Given the description of an element on the screen output the (x, y) to click on. 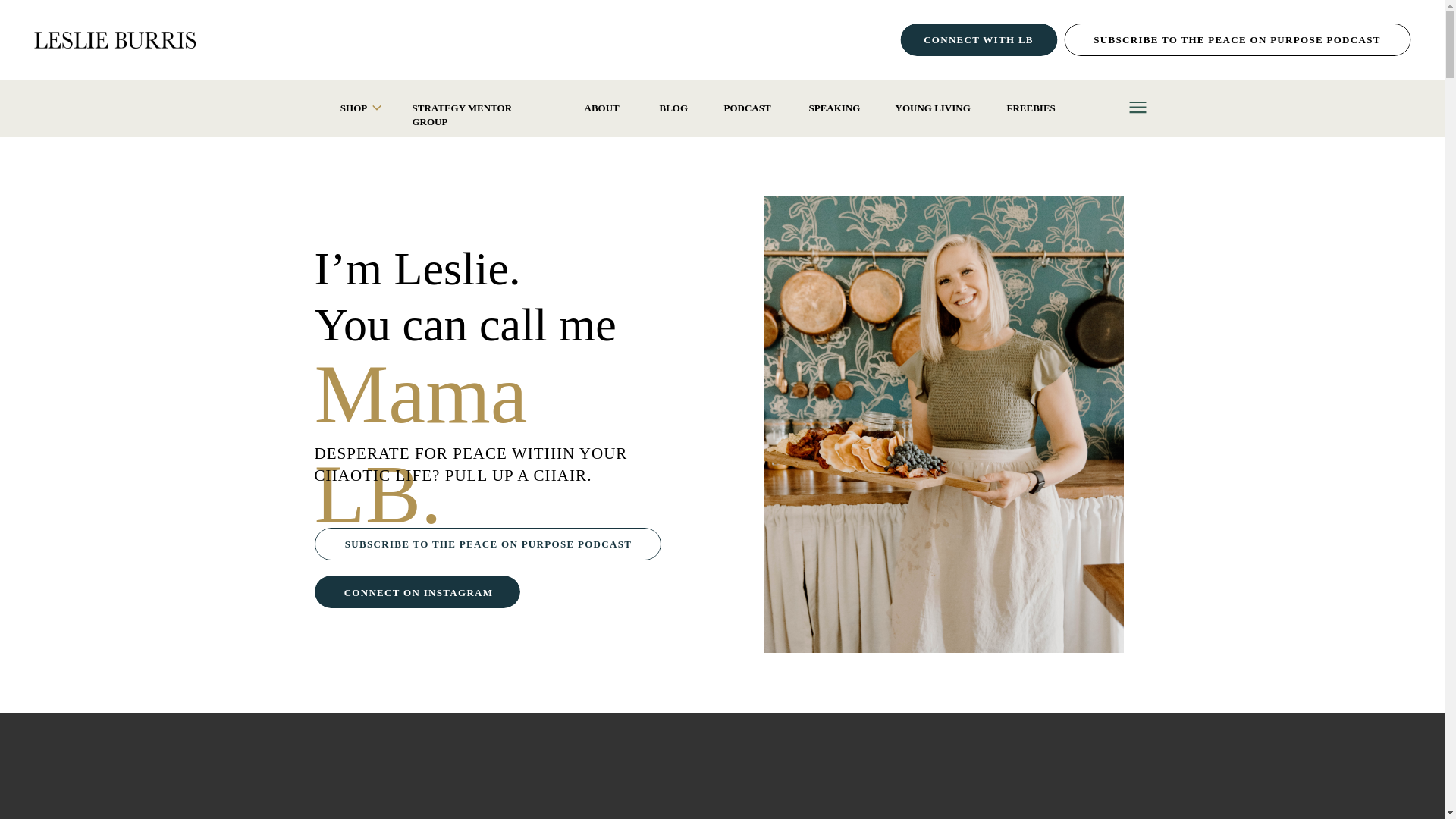
SPEAKING (833, 108)
SHOP (352, 108)
BLOG (673, 108)
CONNECT WITH LB (978, 39)
YOUNG LIVING (933, 108)
FREEBIES (1032, 108)
PODCAST (748, 108)
ABOUT (603, 108)
SUBSCRIBE TO THE PEACE ON PURPOSE PODCAST (1237, 39)
STRATEGY MENTOR GROUP (480, 108)
